Given the description of an element on the screen output the (x, y) to click on. 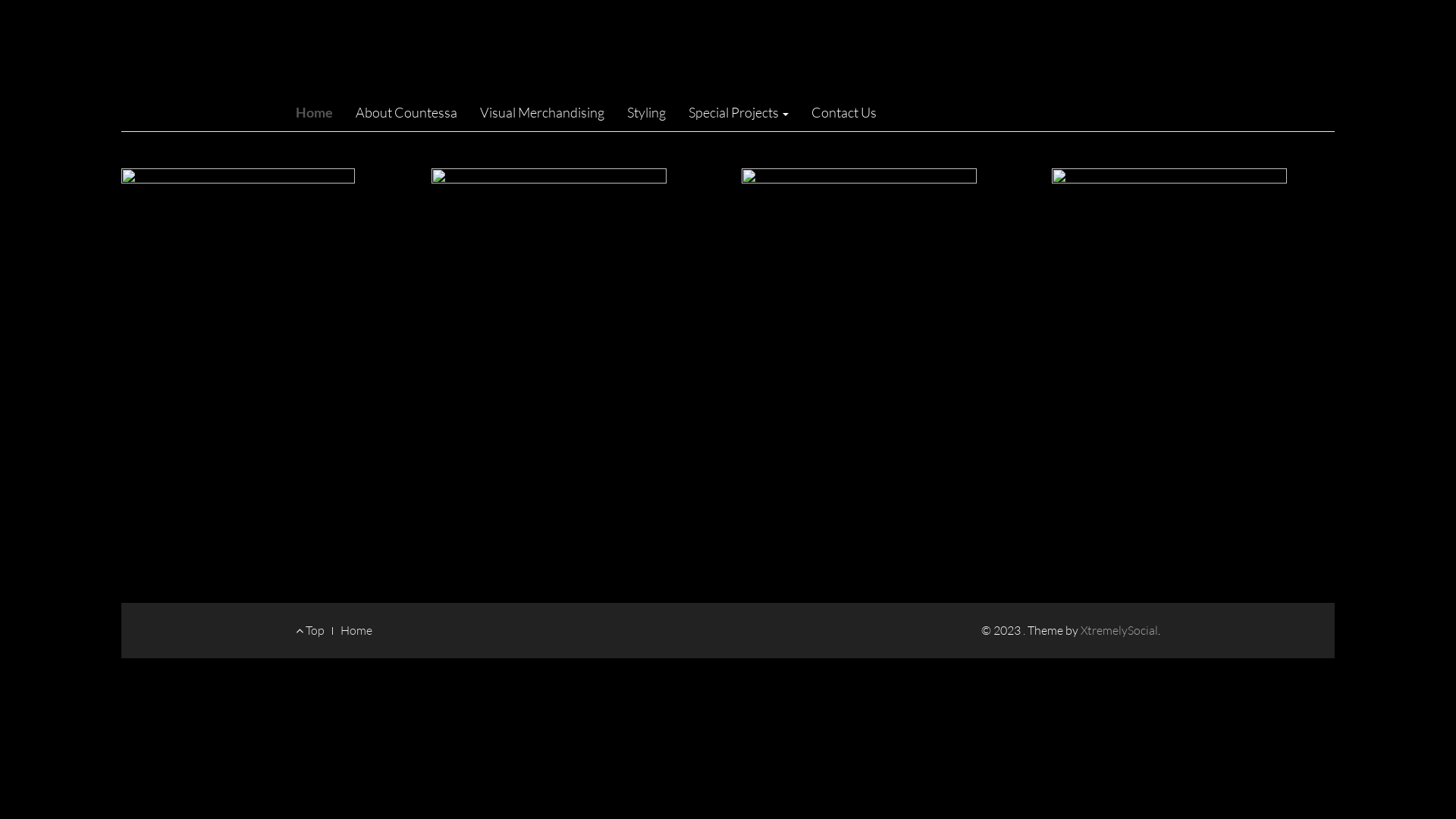
Home Element type: text (314, 112)
Skip to content Element type: text (120, 92)
Contact Us Element type: text (844, 112)
XtremelySocial Element type: text (1118, 629)
Home Element type: text (356, 629)
Top Element type: text (309, 629)
Styling Element type: text (646, 112)
Special Projects Element type: text (738, 112)
About Countessa Element type: text (406, 112)
Visual Merchandising Element type: text (541, 112)
